Given the description of an element on the screen output the (x, y) to click on. 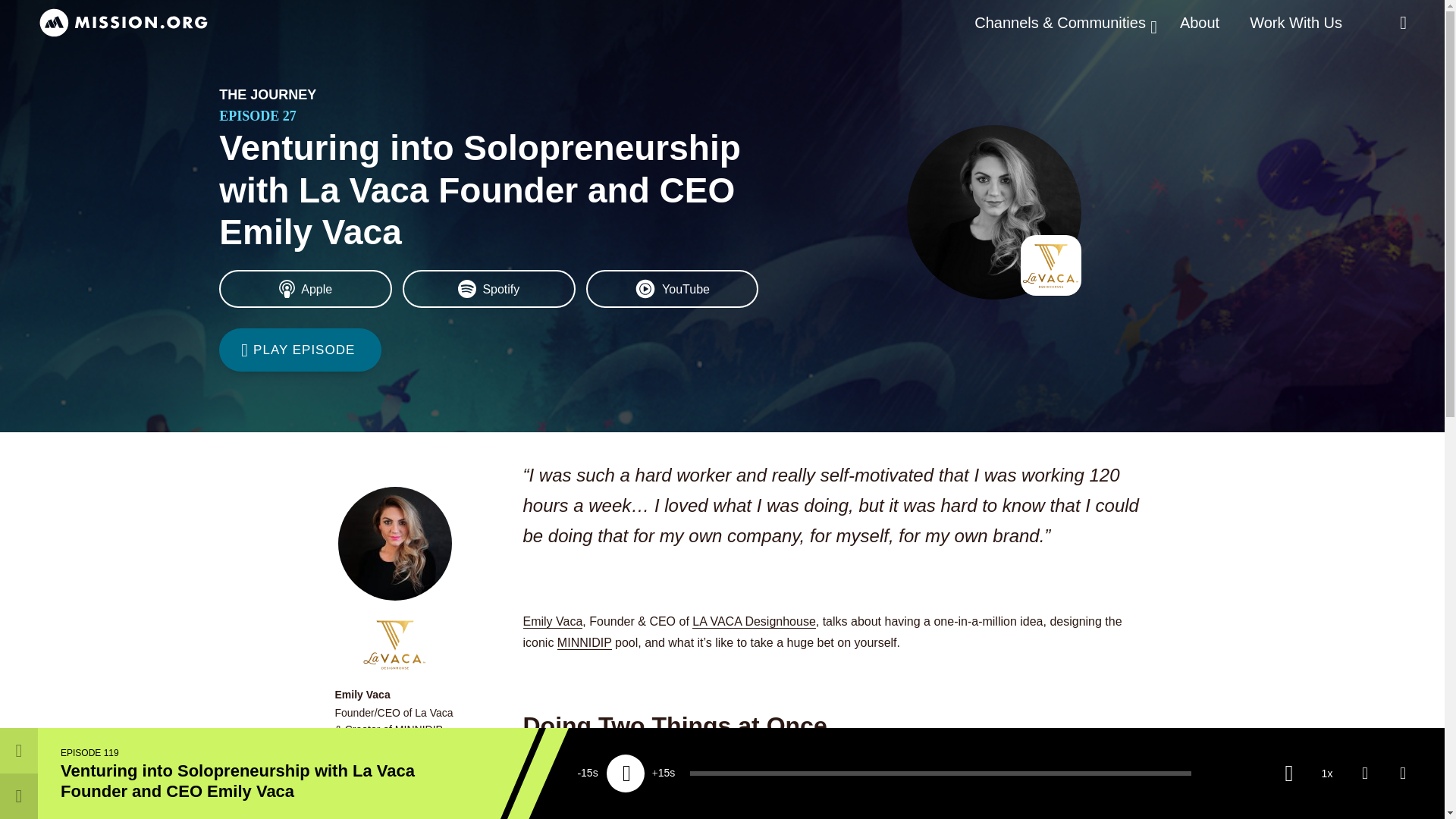
LA VACA Designhouse (754, 621)
Mute (1288, 773)
MINNIDIP (584, 643)
THE JOURNEY (267, 94)
Subscribe (1364, 773)
About (1199, 22)
Apple (305, 288)
Emily Vaca (552, 621)
share (1403, 773)
YouTube (672, 288)
